Given the description of an element on the screen output the (x, y) to click on. 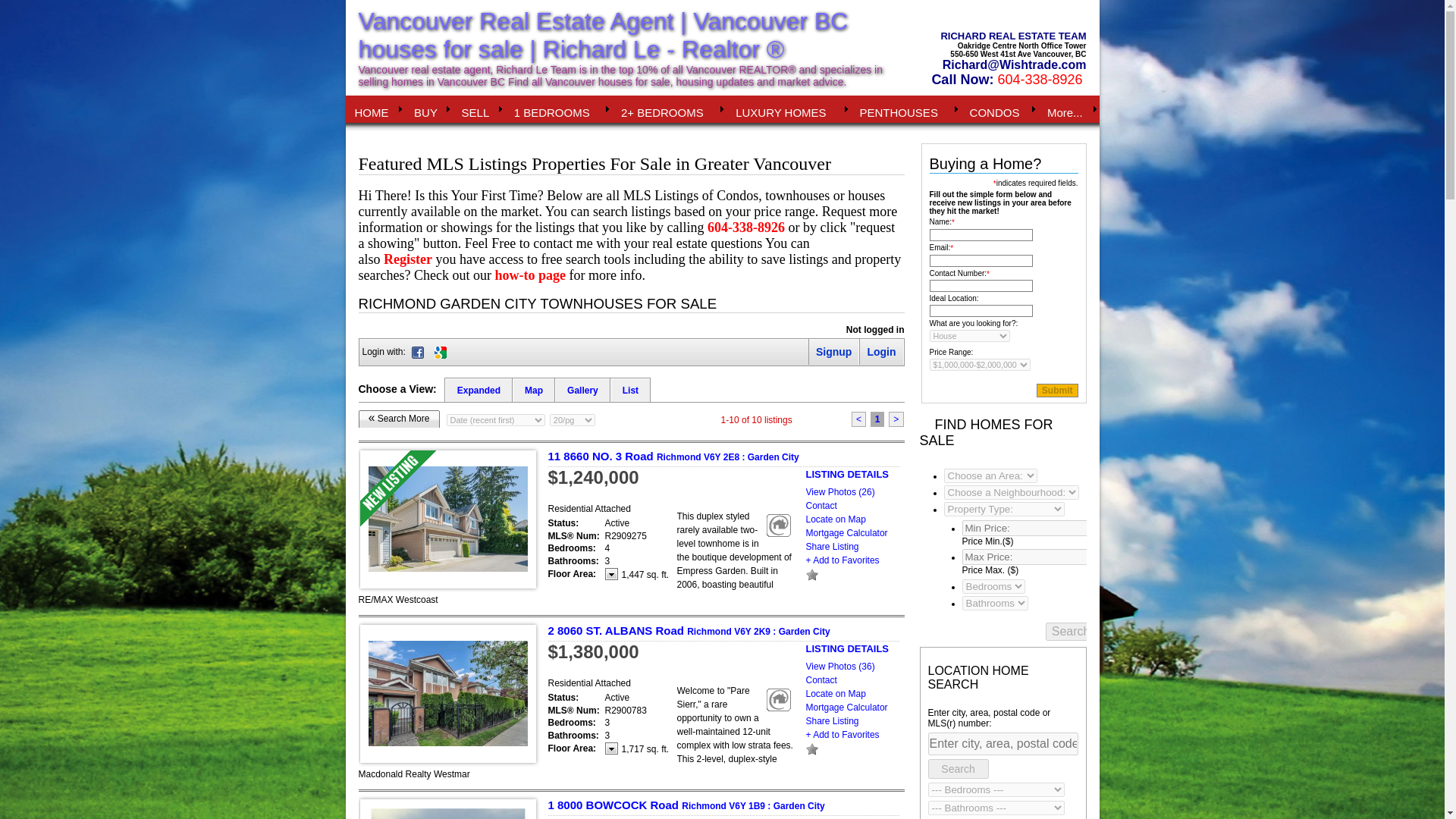
SELL (478, 108)
BUY (427, 108)
1 BEDROOMS (558, 108)
Submit (1057, 390)
BUY (427, 108)
HOME (376, 108)
SELL (478, 108)
1 BEDROOMS (558, 108)
HOME (376, 108)
